Given the description of an element on the screen output the (x, y) to click on. 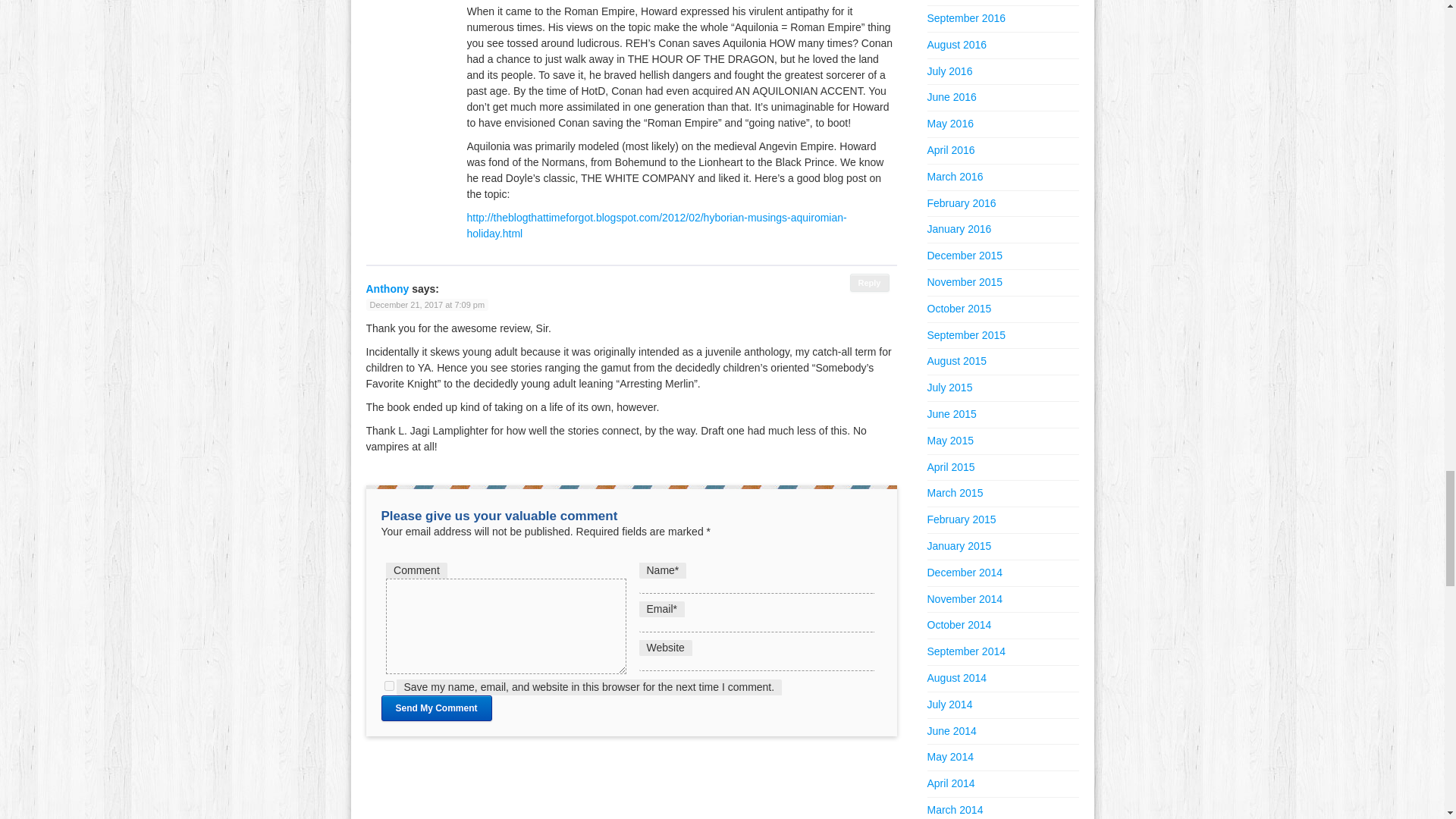
Send My Comment (436, 708)
Anthony (387, 288)
yes (388, 685)
Reply (869, 282)
December 21, 2017 at 7:09 pm (426, 304)
